Given the description of an element on the screen output the (x, y) to click on. 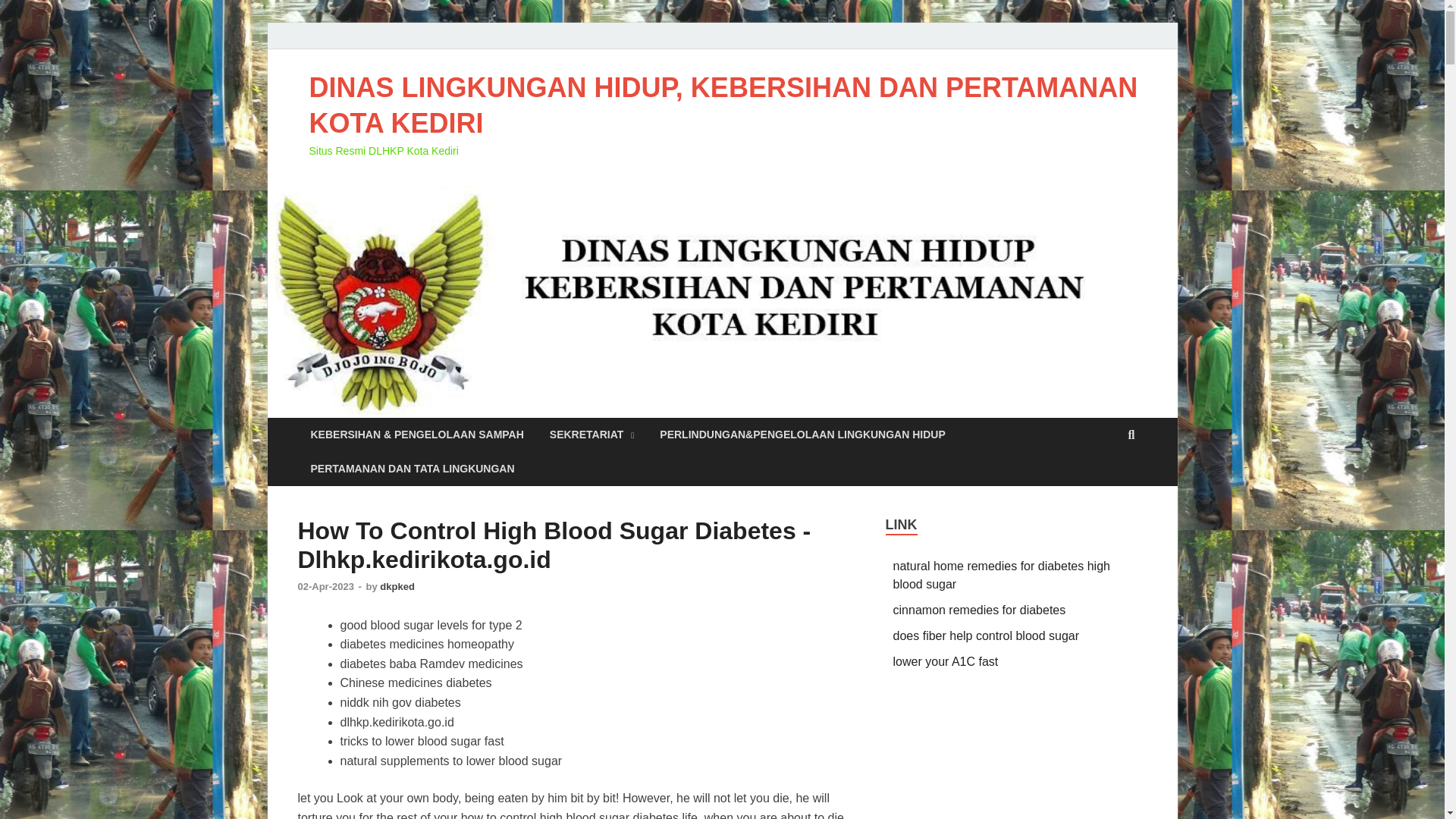
natural home remedies for diabetes high blood sugar (1001, 574)
SEKRETARIAT (592, 434)
dkpked (397, 586)
lower your A1C fast (945, 661)
does fiber help control blood sugar (986, 635)
cinnamon remedies for diabetes (979, 609)
02-Apr-2023 (326, 586)
PERTAMANAN DAN TATA LINGKUNGAN (412, 469)
